Given the description of an element on the screen output the (x, y) to click on. 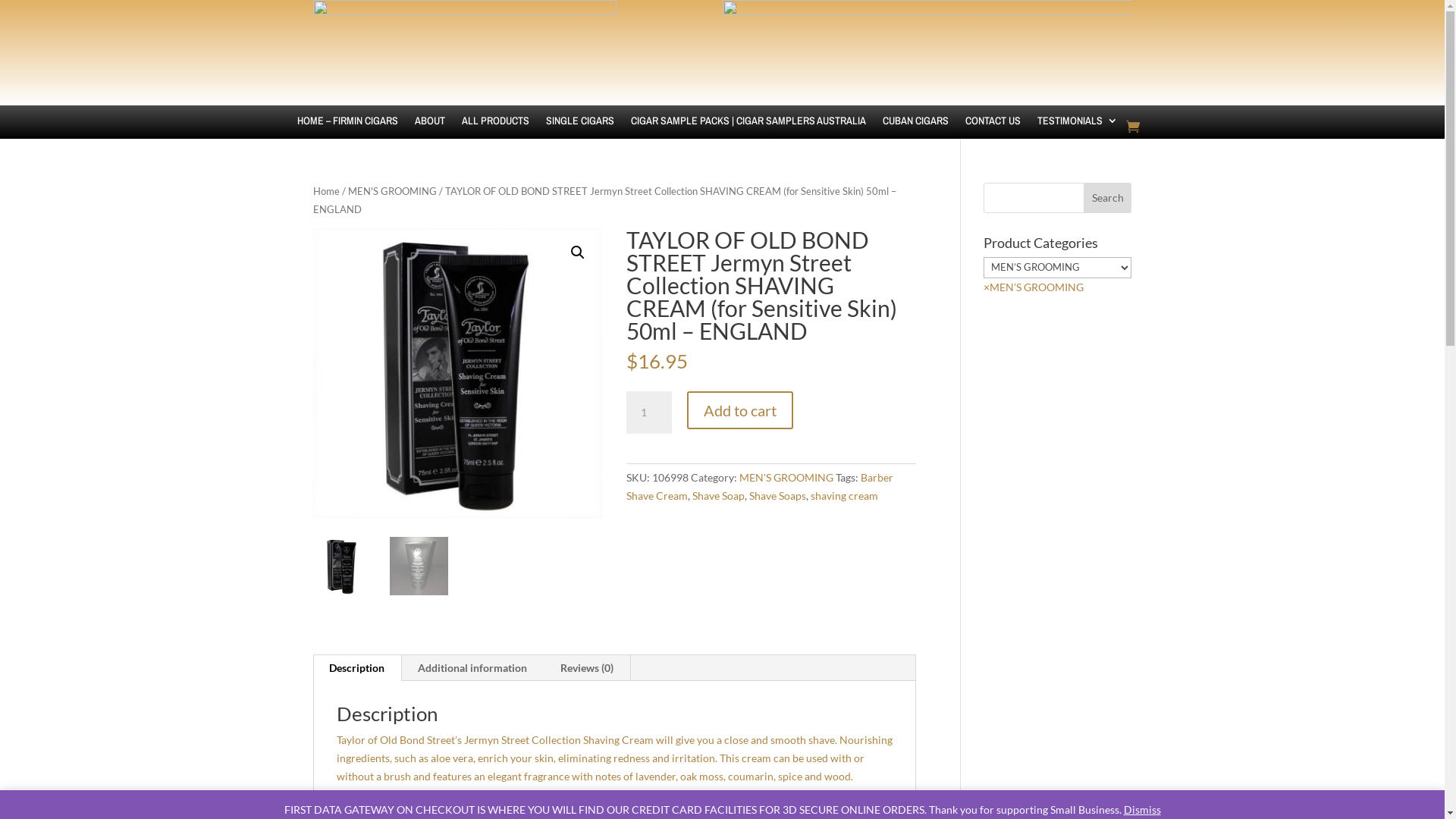
ALL PRODUCTS Element type: text (494, 131)
Home Element type: text (325, 191)
CONTACT US Element type: text (991, 131)
Barber Shave Cream Element type: text (759, 486)
shaving cream Element type: text (844, 495)
Description Element type: text (356, 667)
SINGLE CIGARS Element type: text (580, 131)
MEN'S GROOMING Element type: text (391, 191)
Add to cart Element type: text (740, 410)
TESTIMONIALS Element type: text (1077, 131)
Dismiss Element type: text (1142, 809)
MEN'S GROOMING Element type: text (786, 476)
Reviews (0) Element type: text (585, 667)
Additional information Element type: text (471, 667)
CUBAN CIGARS Element type: text (915, 131)
Search Element type: text (1107, 197)
Shave Soap Element type: text (718, 495)
CIGAR SAMPLE PACKS | CIGAR SAMPLERS AUSTRALIA Element type: text (748, 131)
Shave Soaps Element type: text (777, 495)
ABOUT Element type: text (429, 131)
